Given the description of an element on the screen output the (x, y) to click on. 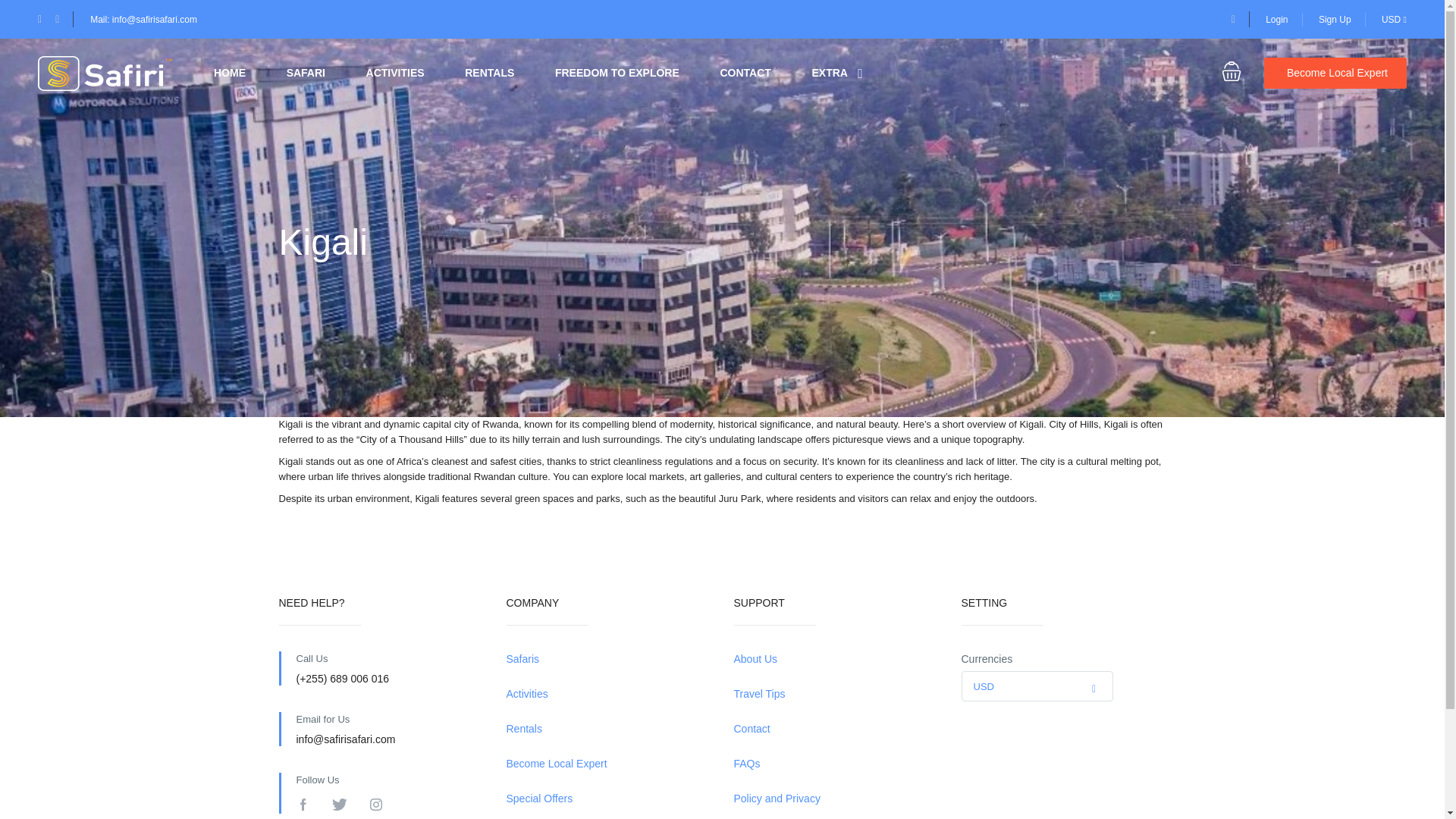
EXTRA (829, 72)
SAFARI (305, 72)
Become Local Expert (1334, 72)
Safaris (608, 659)
USD (1036, 686)
Activities (608, 693)
Sign Up (1335, 19)
Policy and Privacy (836, 798)
FREEDOM TO EXPLORE (616, 72)
HOME (229, 72)
CONTACT (744, 72)
USD (1393, 19)
Become Local Expert (608, 763)
ACTIVITIES (395, 72)
About Us (836, 659)
